Given the description of an element on the screen output the (x, y) to click on. 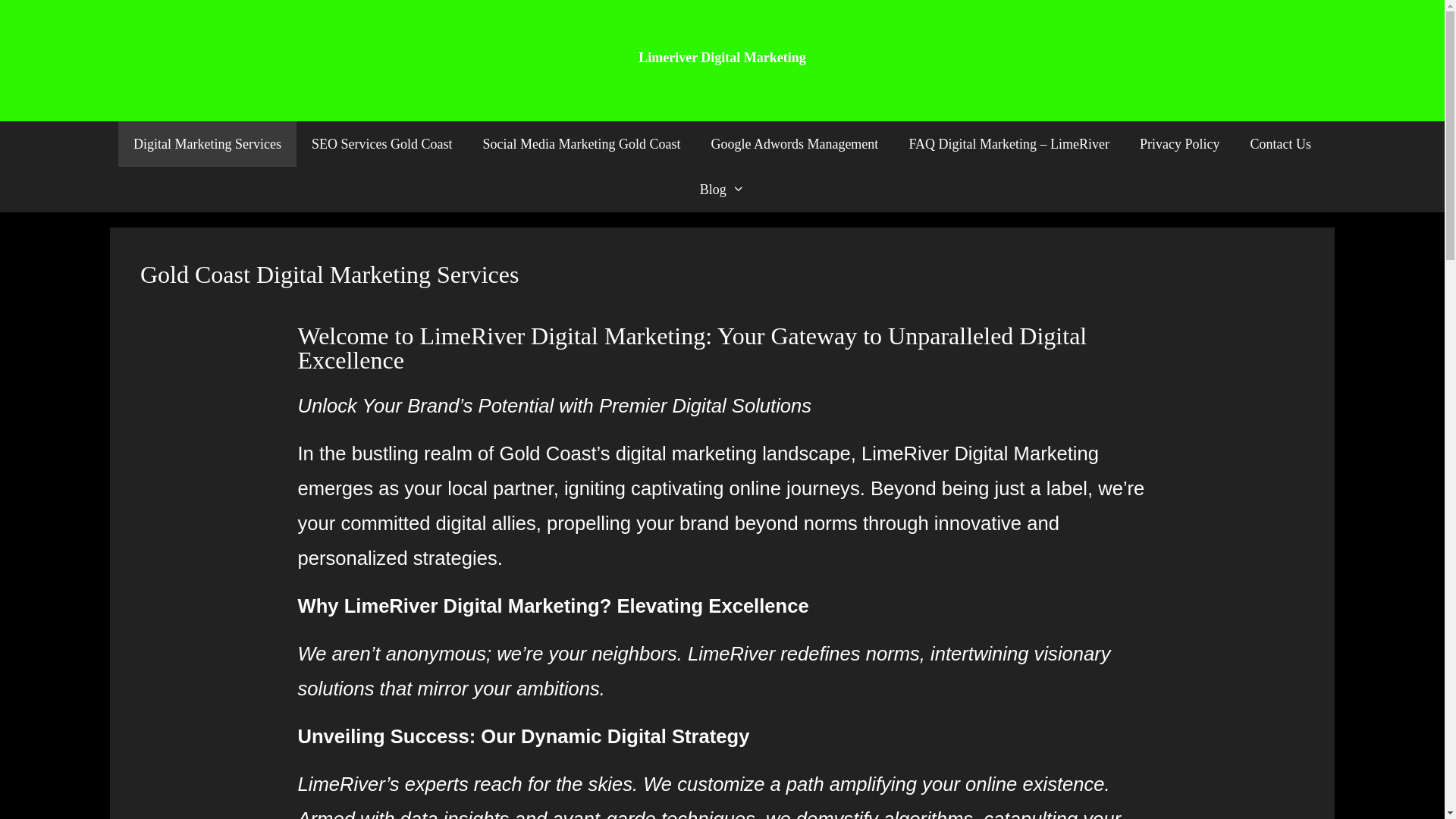
Limeriver Digital Marketing Element type: text (722, 57)
Privacy Policy Element type: text (1179, 143)
Google Adwords Management Element type: text (794, 143)
Blog Element type: text (721, 189)
SEO Services Gold Coast Element type: text (381, 143)
Contact Us Element type: text (1280, 143)
Social Media Marketing Gold Coast Element type: text (581, 143)
Digital Marketing Services Element type: text (207, 143)
